Given the description of an element on the screen output the (x, y) to click on. 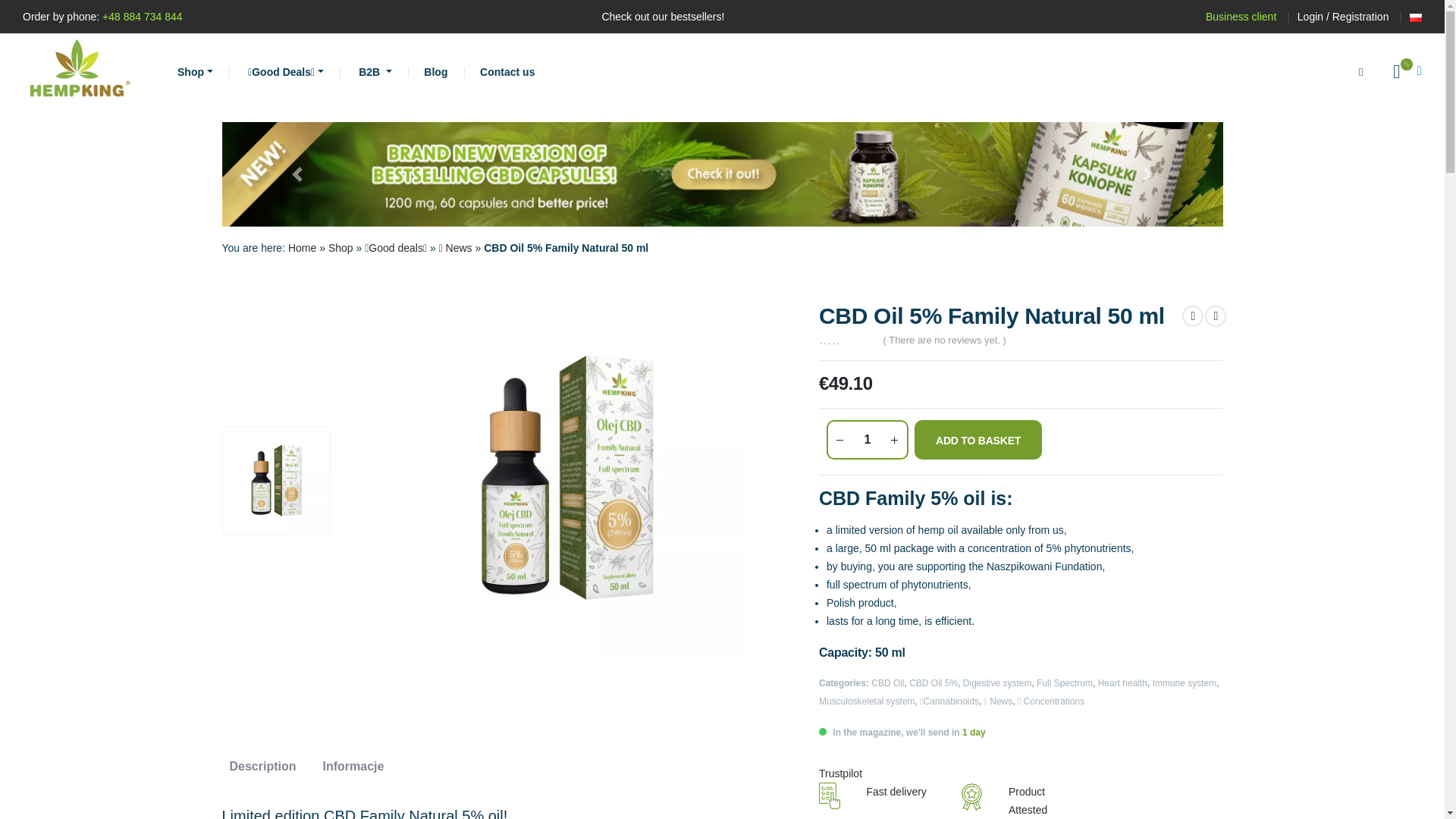
0 (847, 338)
Business client (1240, 16)
Hemp King -  (79, 71)
Check out our bestsellers! (662, 16)
Shop (195, 71)
1 (866, 439)
